Given the description of an element on the screen output the (x, y) to click on. 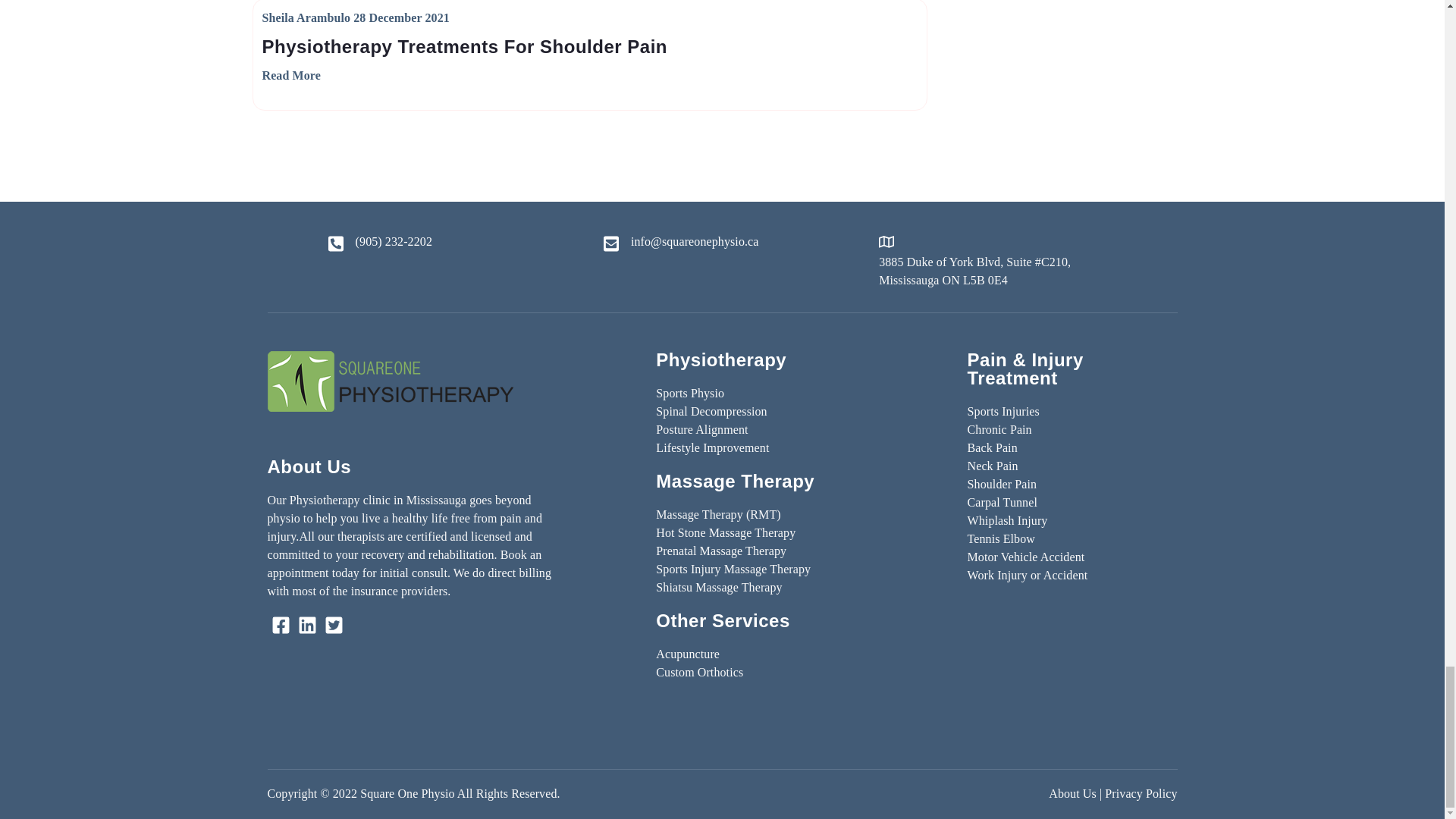
Sheila Arambulo 28 December 2021 (355, 17)
Square One Physiotherapy Mississauga (389, 381)
Sports Injuries Physiotherapy Treatment (1003, 410)
